Given the description of an element on the screen output the (x, y) to click on. 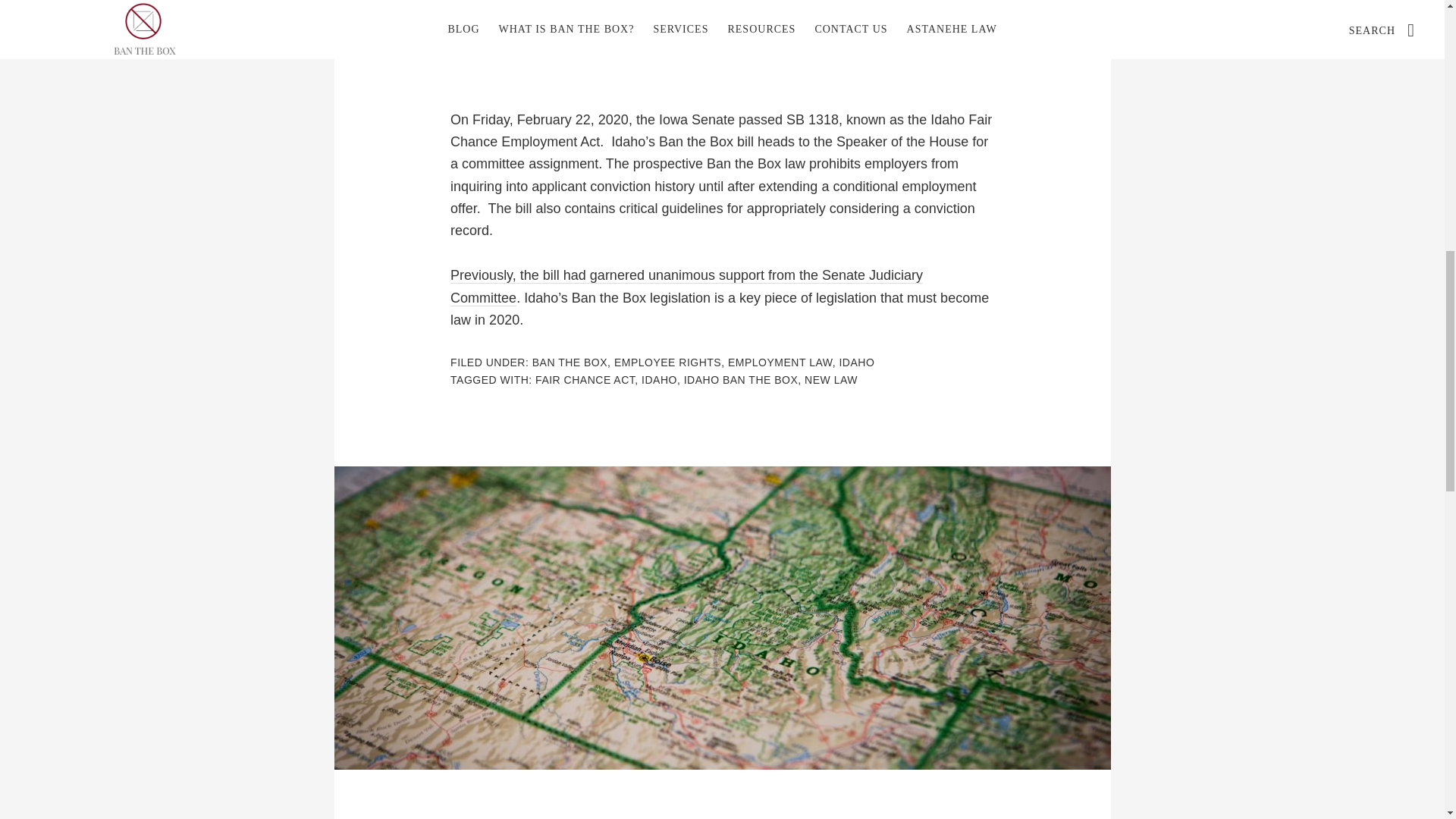
BAN THE BOX (569, 362)
IDAHO (856, 362)
IDAHO (659, 379)
IDAHO BAN THE BOX (740, 379)
FAIR CHANCE ACT (584, 379)
NEW LAW (831, 379)
EMPLOYMENT LAW (780, 362)
EMPLOYEE RIGHTS (667, 362)
